Given the description of an element on the screen output the (x, y) to click on. 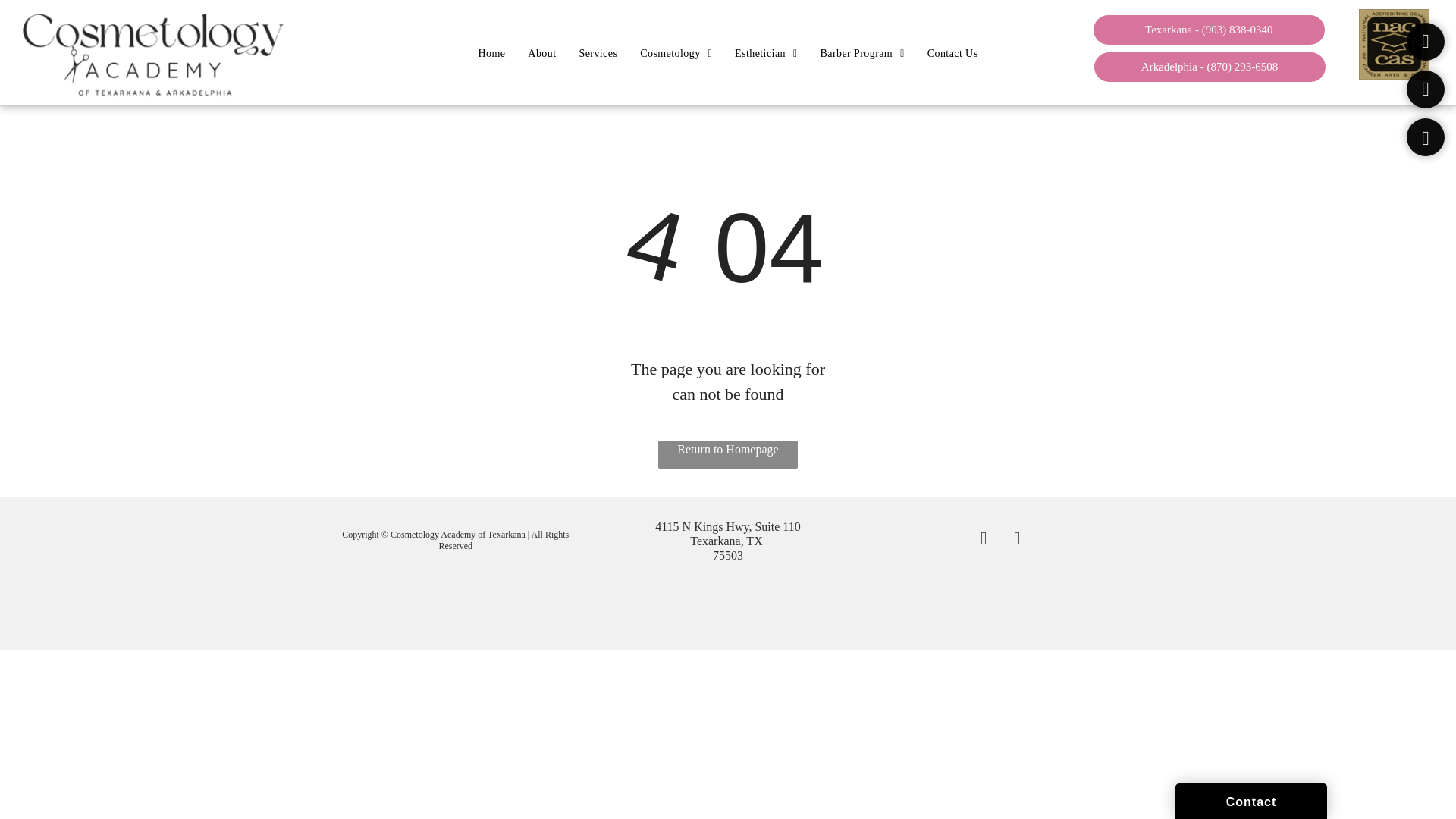
Contact Us (952, 53)
Esthetician (765, 53)
Barber Program (861, 53)
Cosmetology (675, 53)
Services (597, 53)
About (541, 53)
Return to Homepage (727, 454)
Home (490, 53)
